Given the description of an element on the screen output the (x, y) to click on. 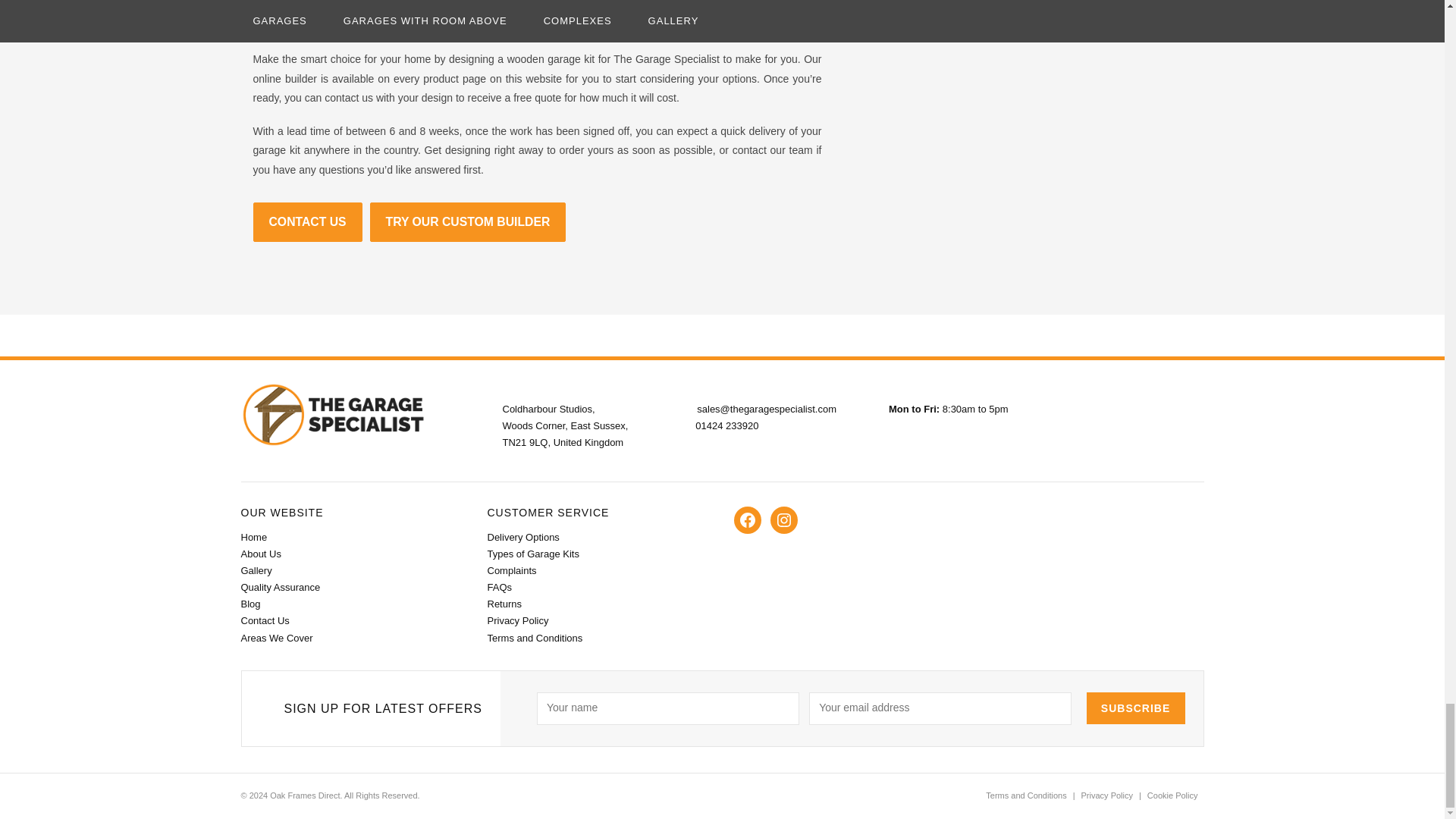
Subscribe (1135, 707)
